Given the description of an element on the screen output the (x, y) to click on. 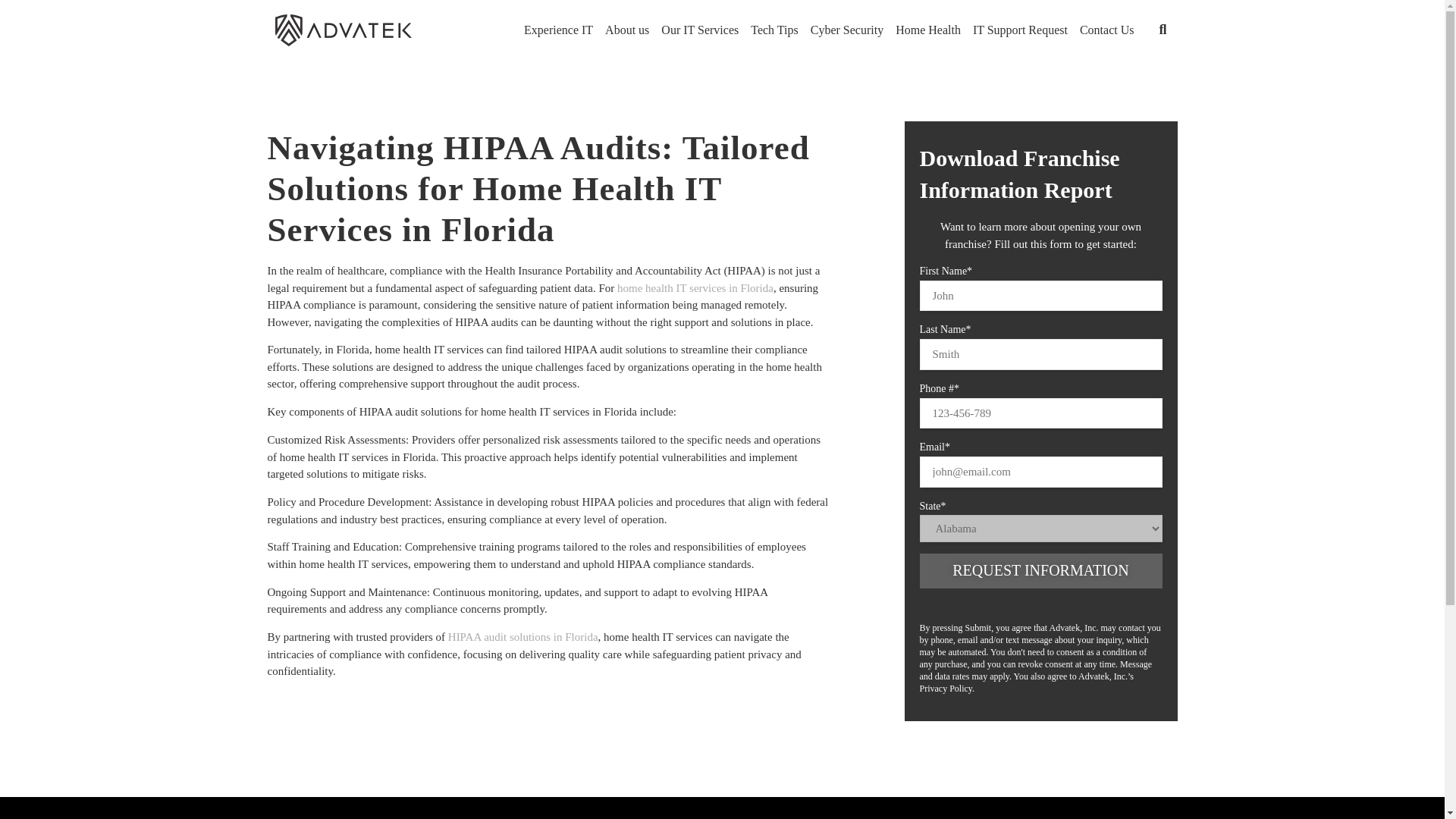
IT Support Request (1020, 30)
Request Information (1039, 570)
Our IT Services (699, 30)
Request Information (1039, 570)
Contact Us (1107, 30)
Cyber Security (847, 30)
About us (626, 30)
Tech Tips (773, 30)
home health IT services in Florida (695, 287)
Experience IT (558, 30)
HIPAA audit solutions in Florida (523, 636)
Home Health (927, 30)
